Given the description of an element on the screen output the (x, y) to click on. 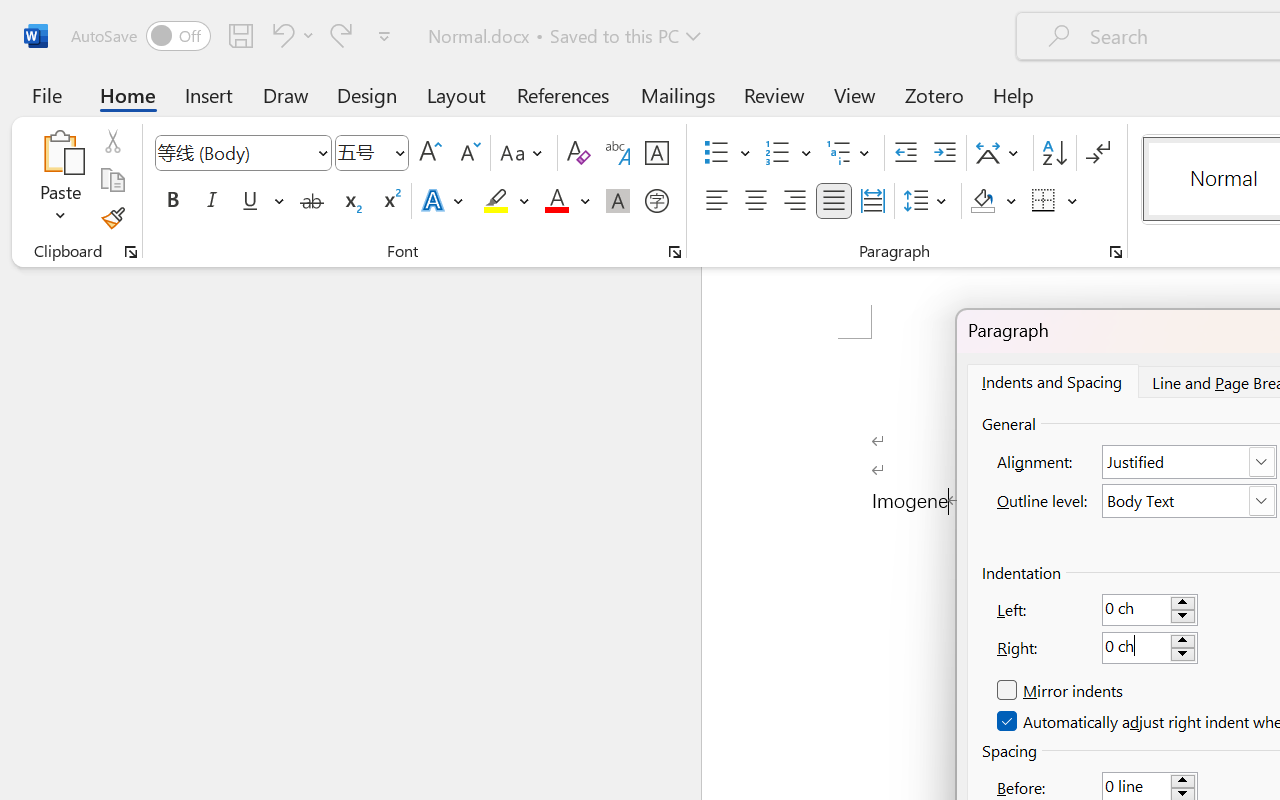
Show/Hide Editing Marks (1098, 153)
Open (399, 152)
Change Case (524, 153)
Center (756, 201)
Mirror indents (1061, 691)
Sort... (1054, 153)
Align Left (716, 201)
Align Right (794, 201)
Phonetic Guide... (618, 153)
Superscript (390, 201)
Enclose Characters... (656, 201)
